Given the description of an element on the screen output the (x, y) to click on. 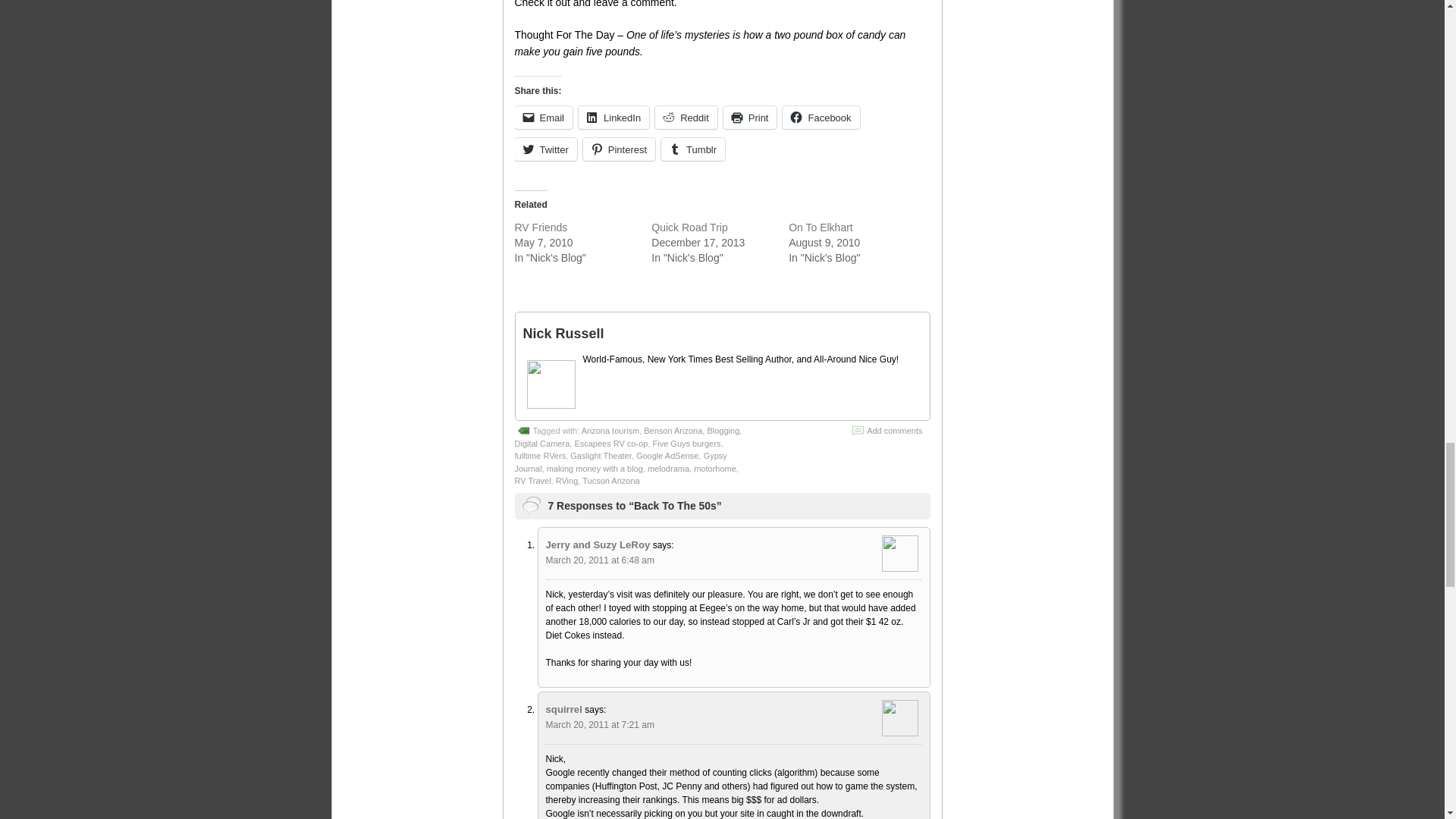
Click to share on LinkedIn (613, 117)
Add comments (893, 429)
Click to share on Facebook (821, 117)
Arizona tourism (609, 429)
On To Elkhart (821, 227)
RV Friends (540, 227)
Twitter (544, 149)
Click to email a link to a friend (542, 117)
Click to share on Pinterest (619, 149)
Tumblr (693, 149)
Pinterest (619, 149)
Click to share on Twitter (544, 149)
Reddit (686, 117)
LinkedIn (613, 117)
Print (750, 117)
